Given the description of an element on the screen output the (x, y) to click on. 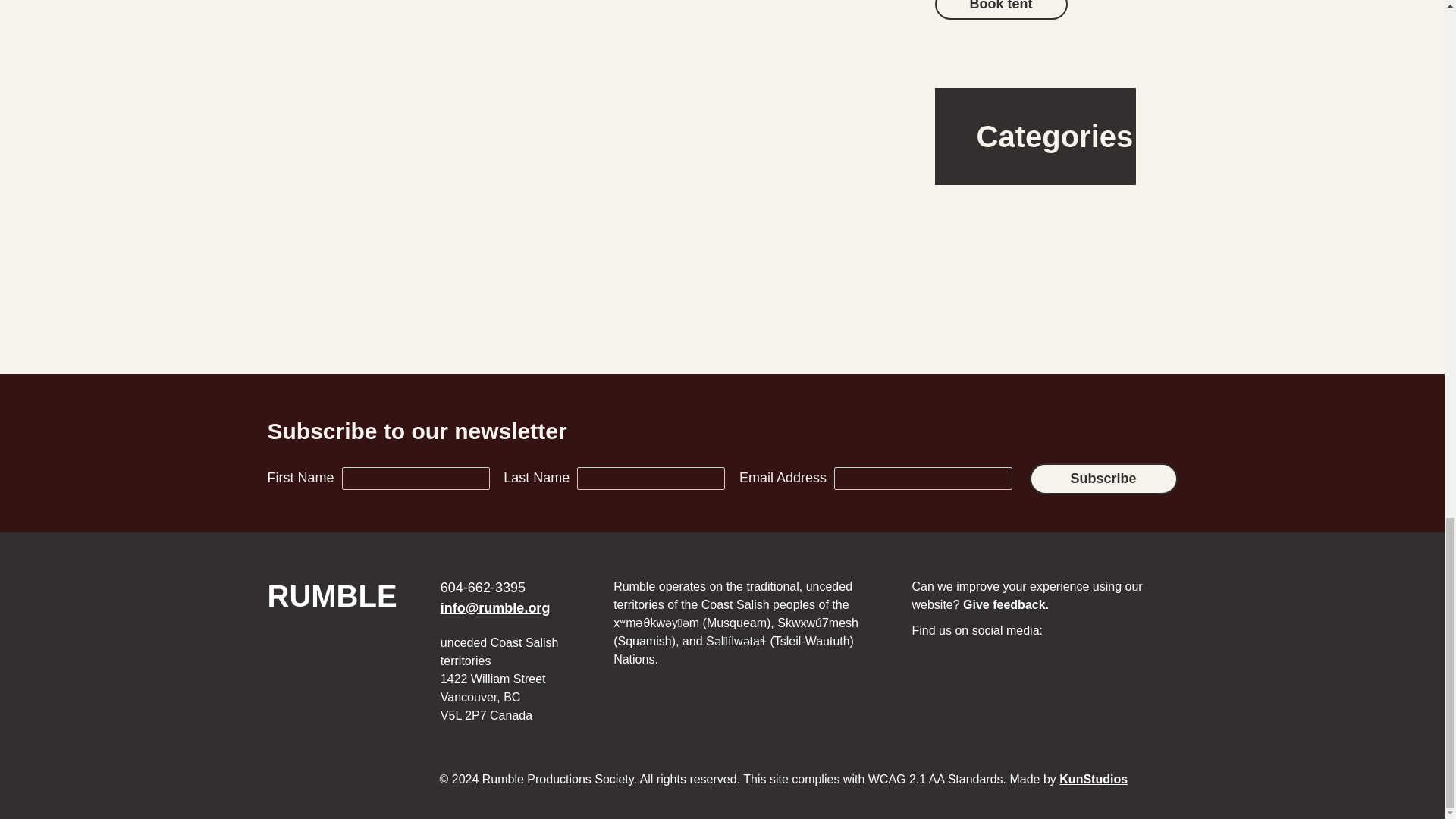
Subscribe (1103, 477)
Give feedback. (1005, 603)
Subscribe (1103, 477)
News (958, 234)
Resources (973, 267)
Jobs (955, 201)
Book tent (1092, 778)
